Given the description of an element on the screen output the (x, y) to click on. 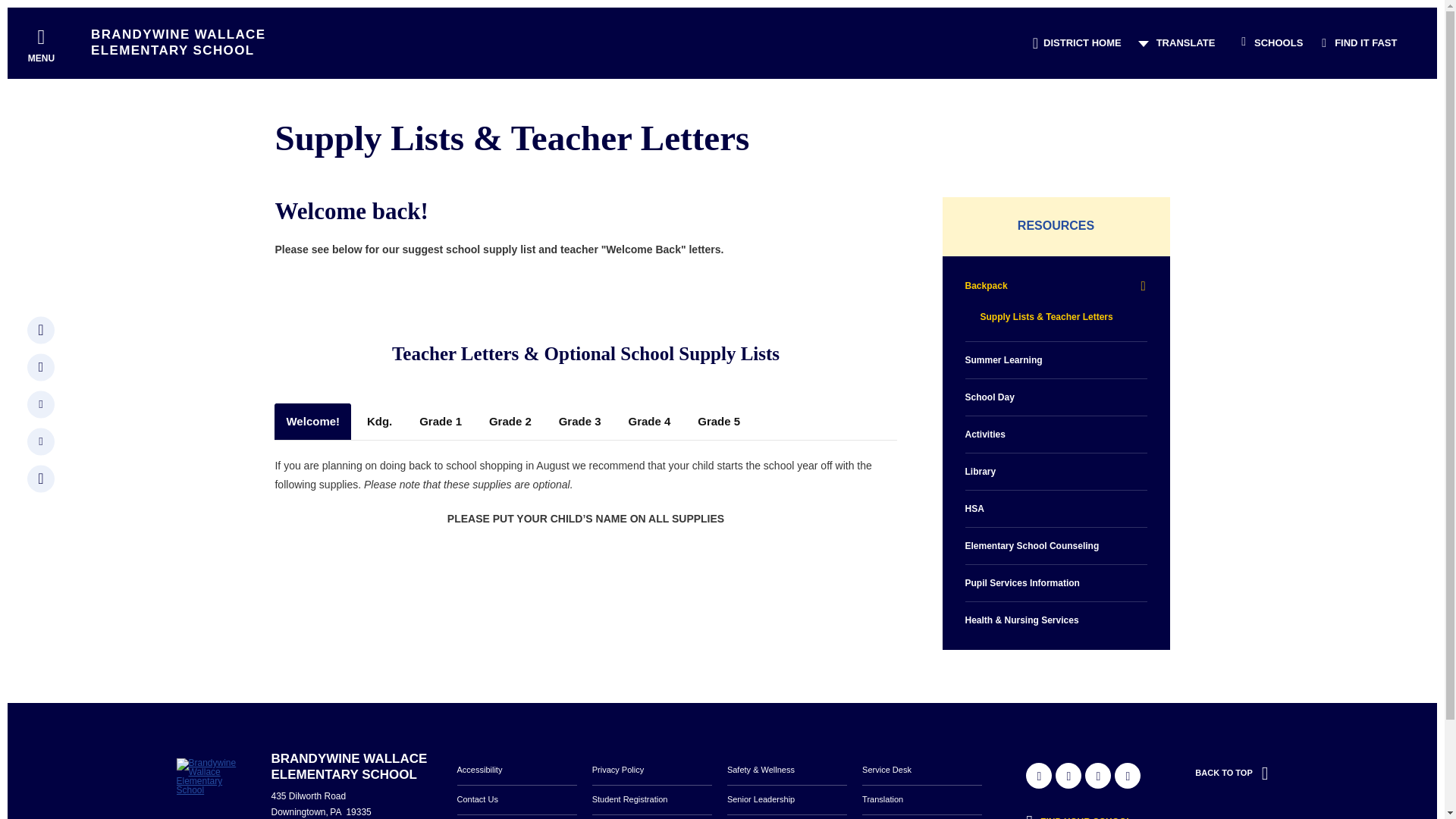
Info Finder (1083, 813)
BACK TO TOP (1231, 773)
BACK TO TOP (1231, 789)
